Given the description of an element on the screen output the (x, y) to click on. 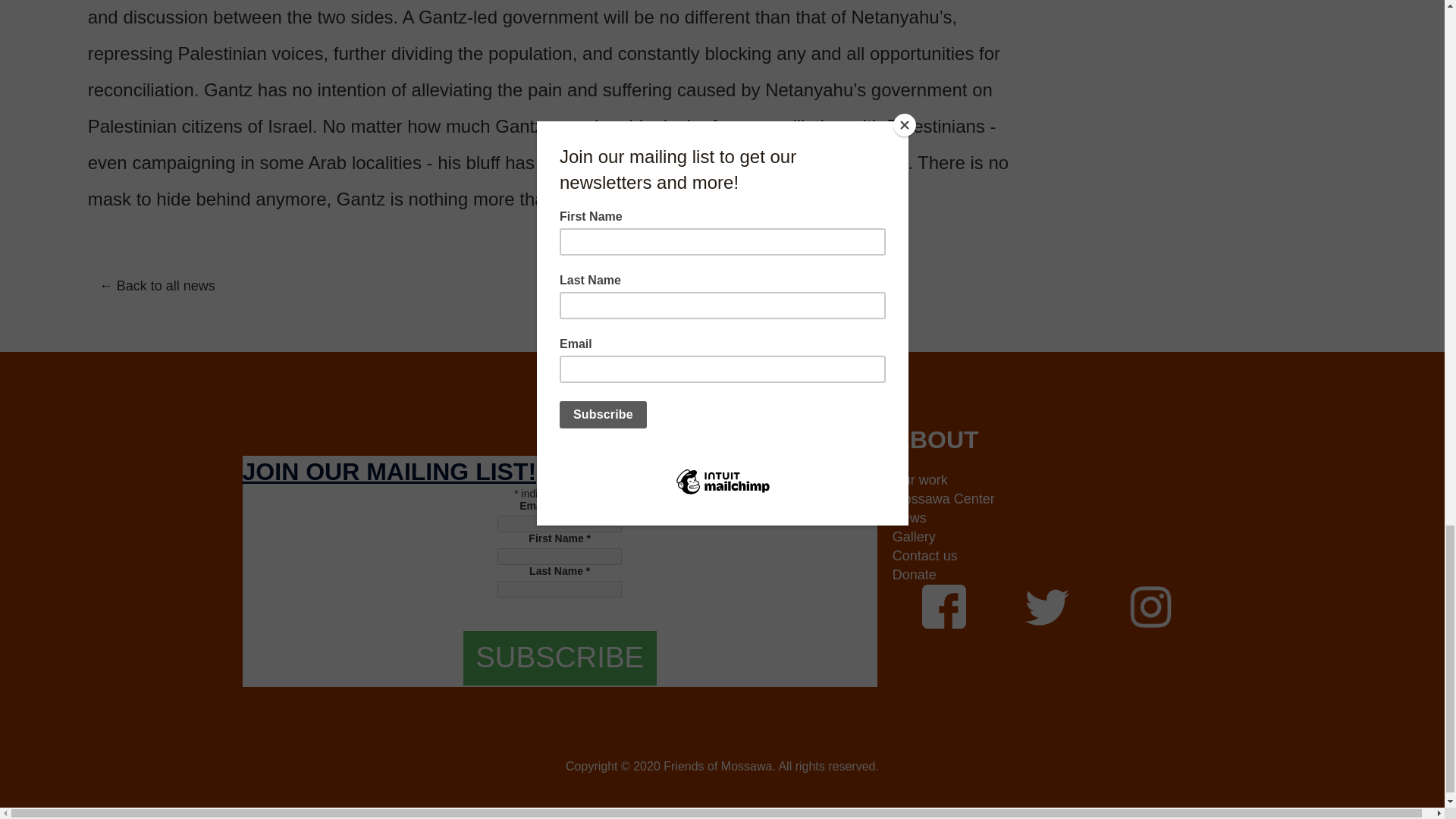
Subscribe (559, 658)
Mossawa Center (1043, 498)
Our work (1043, 479)
Subscribe (559, 658)
Gallery (1043, 537)
News (1043, 517)
Contact us (1043, 556)
Donate (1043, 574)
